Given the description of an element on the screen output the (x, y) to click on. 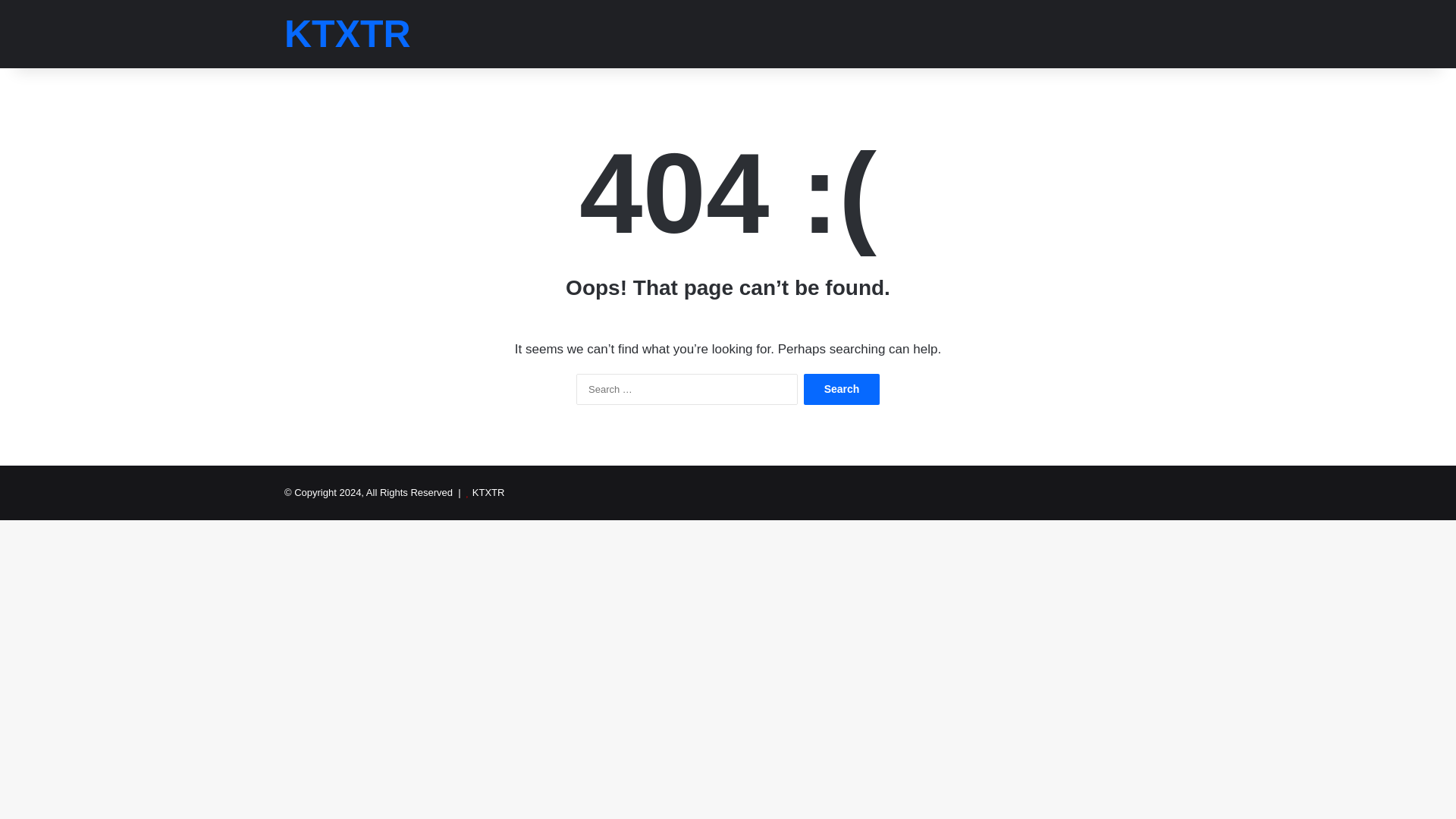
KTXTR (346, 34)
Search (841, 388)
Search (841, 388)
Search (841, 388)
KTXTR (346, 34)
KTXTR (488, 491)
